Given the description of an element on the screen output the (x, y) to click on. 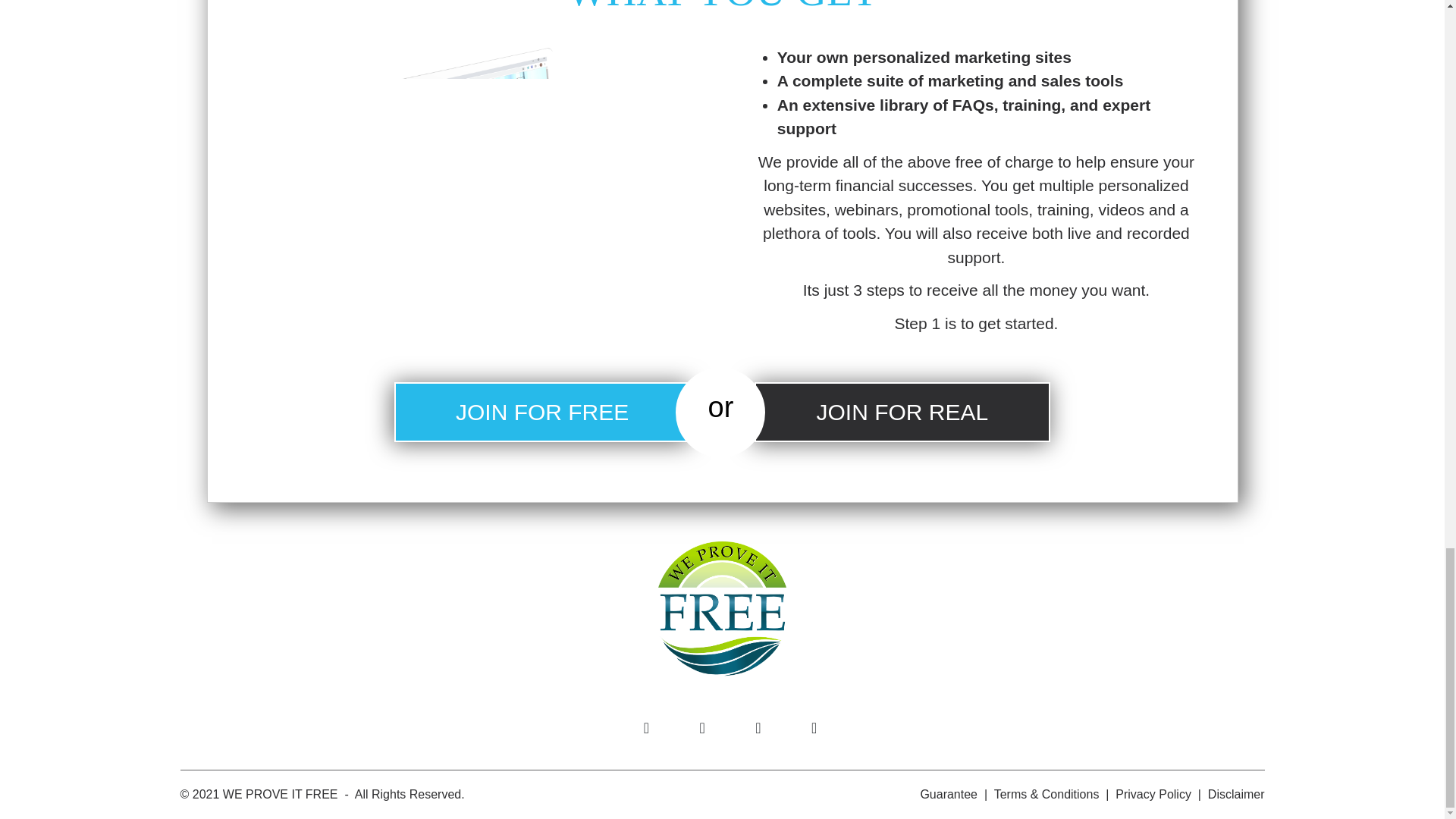
JOIN FOR FREE (542, 412)
JOIN FOR REAL (901, 412)
Guarantee (948, 793)
Disclaimer (1236, 793)
WE PROVE IT FREE (279, 793)
Privacy Policy (1153, 793)
